Given the description of an element on the screen output the (x, y) to click on. 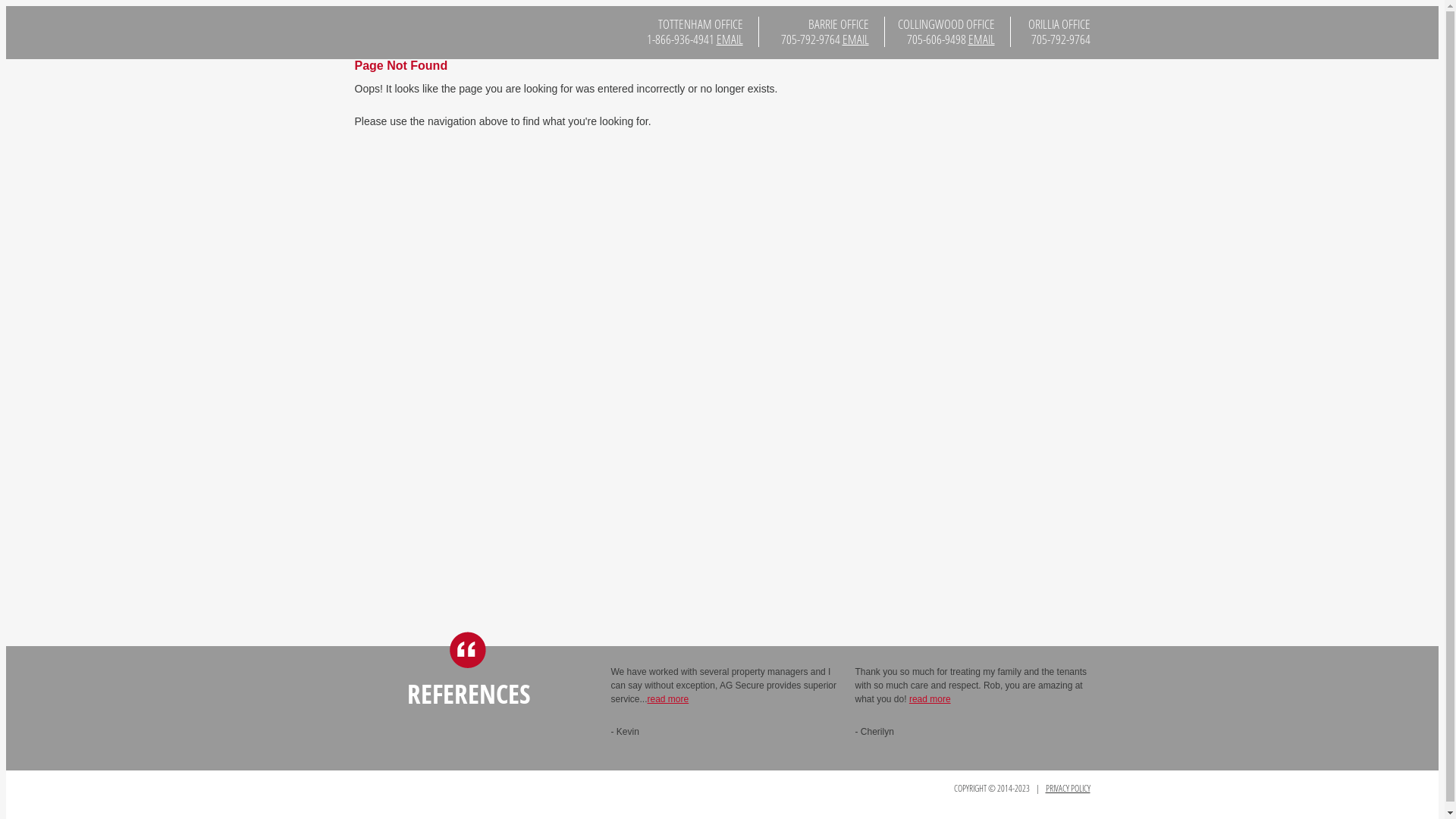
EMAIL Element type: text (854, 38)
read more Element type: text (929, 698)
EMAIL Element type: text (728, 38)
EMAIL Element type: text (980, 38)
read more Element type: text (668, 698)
PRIVACY POLICY Element type: text (1066, 782)
